Given the description of an element on the screen output the (x, y) to click on. 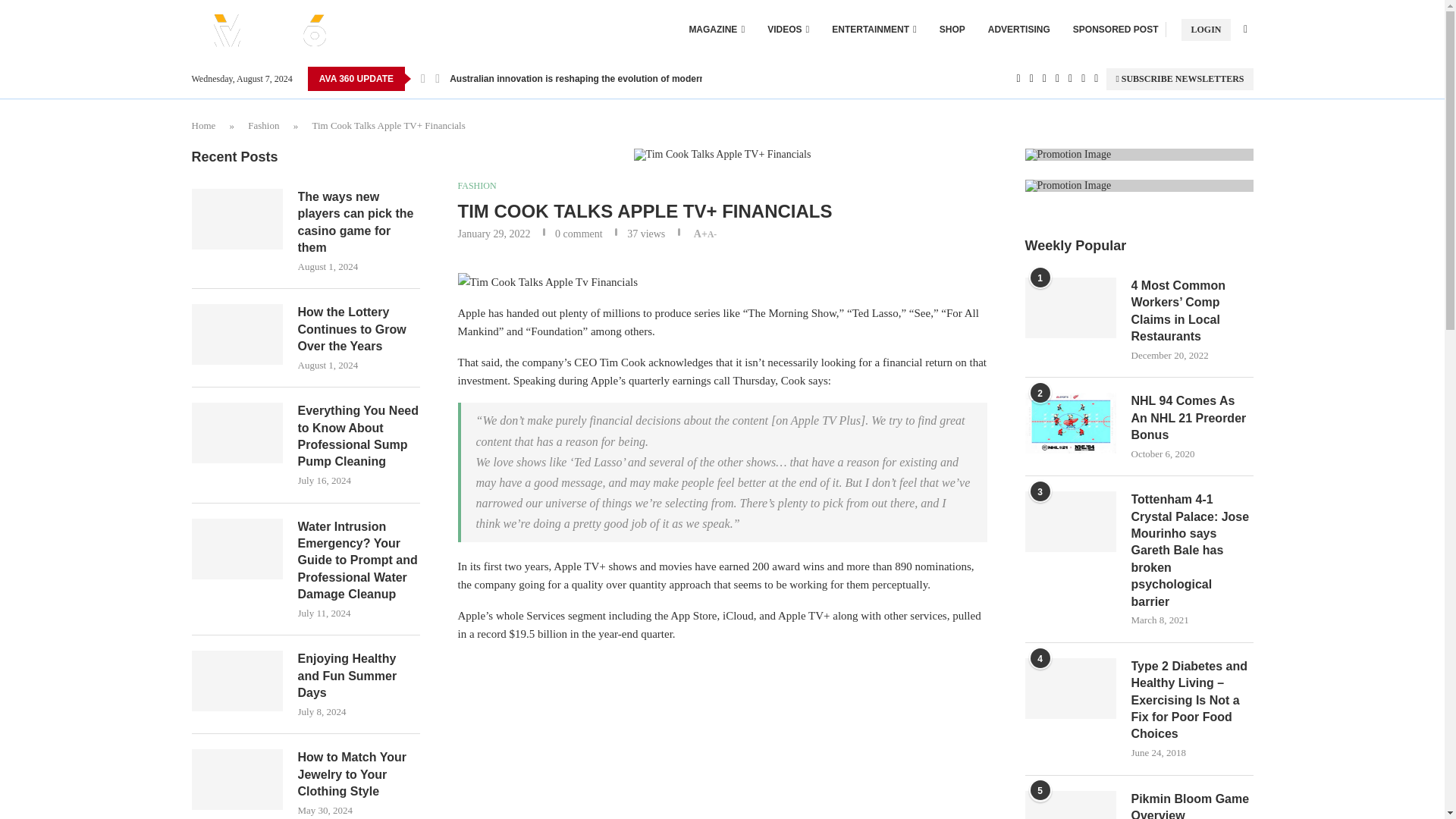
Tim Cook Talks Apple Tv Financials (548, 281)
tim-cook-talks-apple-tv-financials.jpg (721, 154)
YouTube video player (681, 737)
